Given the description of an element on the screen output the (x, y) to click on. 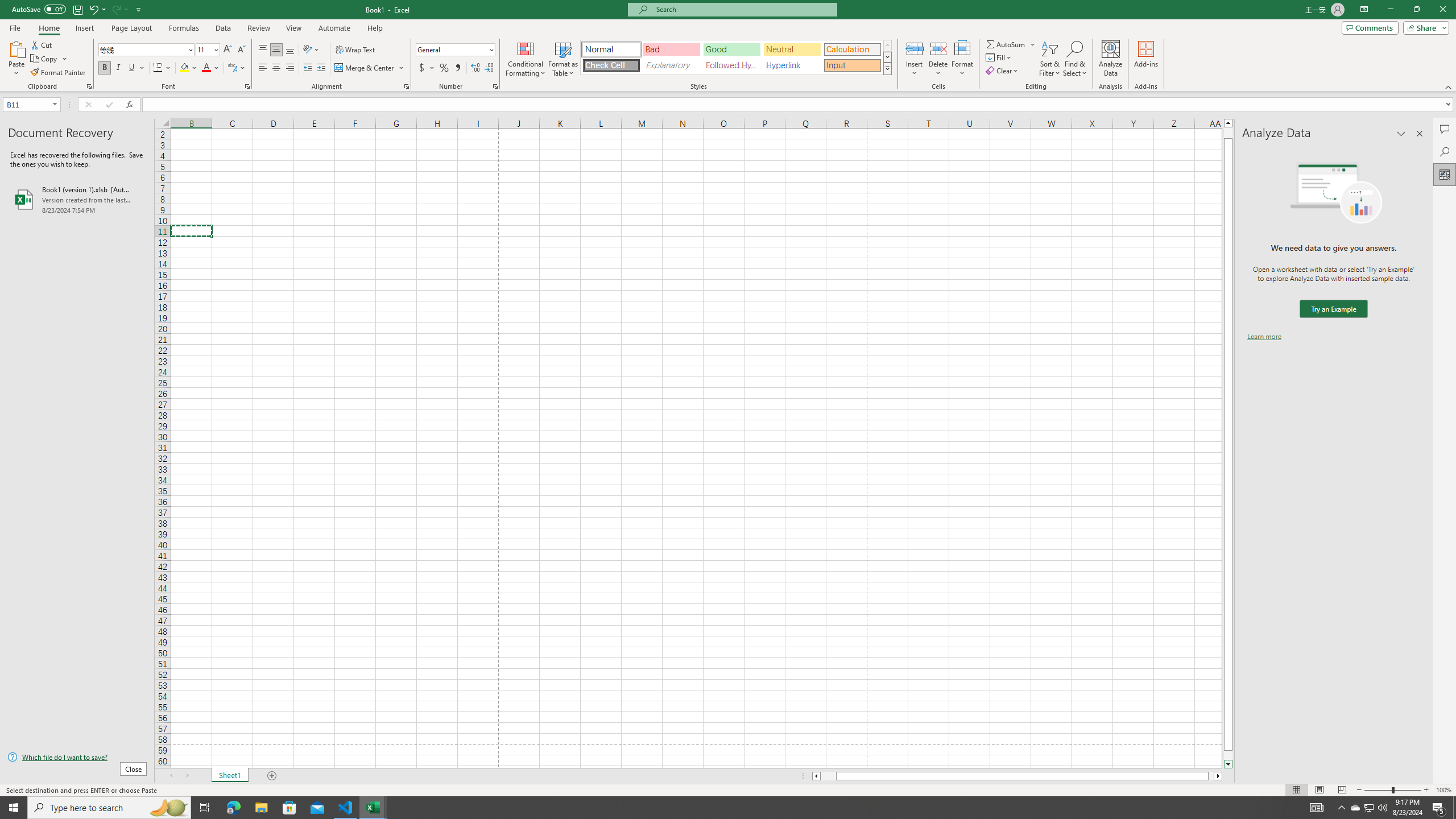
Align Left (262, 67)
Number Format (455, 49)
Bold (104, 67)
Cell Styles (887, 68)
Increase Font Size (227, 49)
Increase Decimal (474, 67)
